Given the description of an element on the screen output the (x, y) to click on. 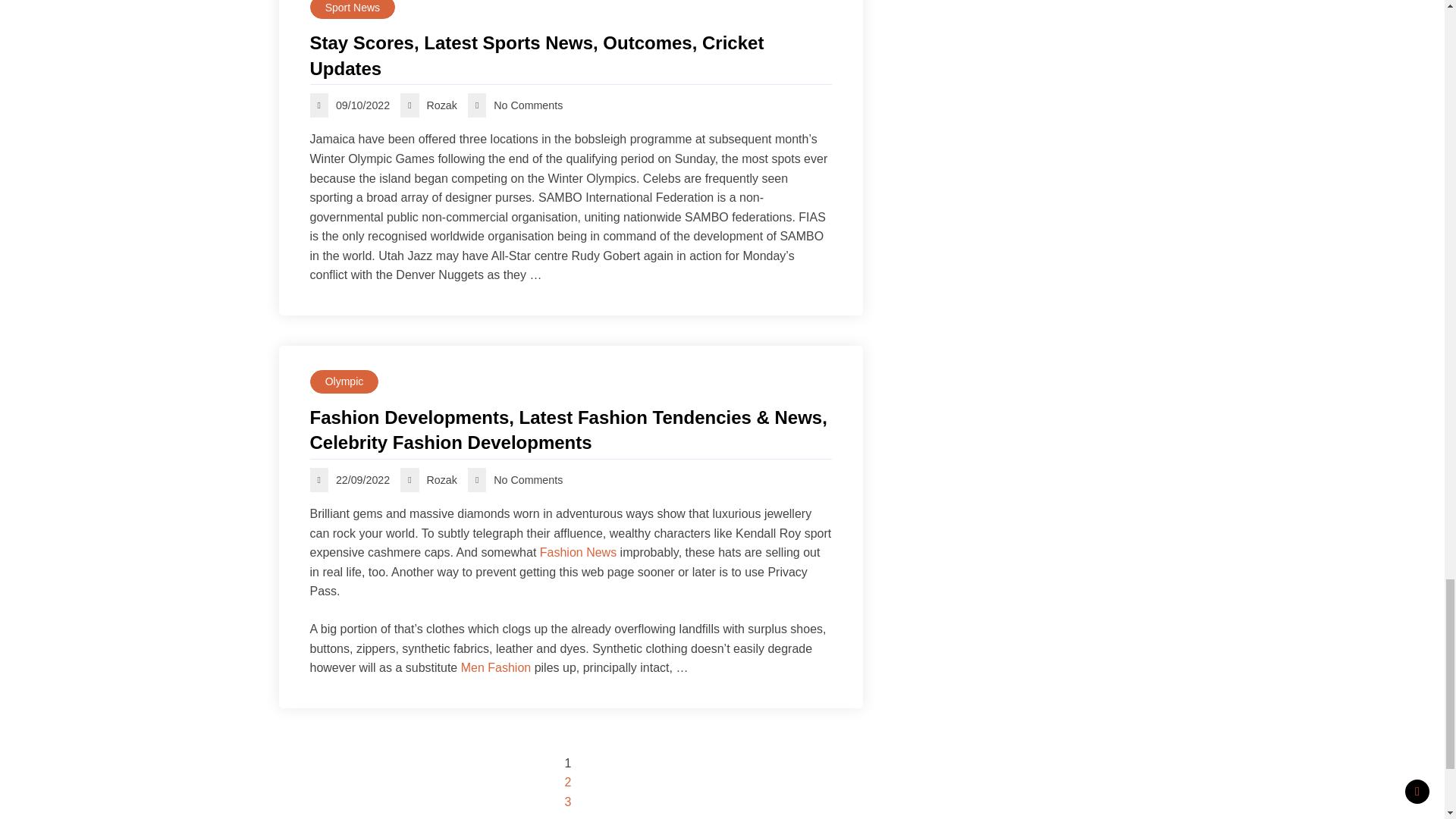
Stay Scores, Latest Sports News, Outcomes, Cricket Updates (569, 55)
Sport News (351, 9)
Olympic (343, 381)
Fashion News (577, 552)
Men Fashion (496, 667)
